Given the description of an element on the screen output the (x, y) to click on. 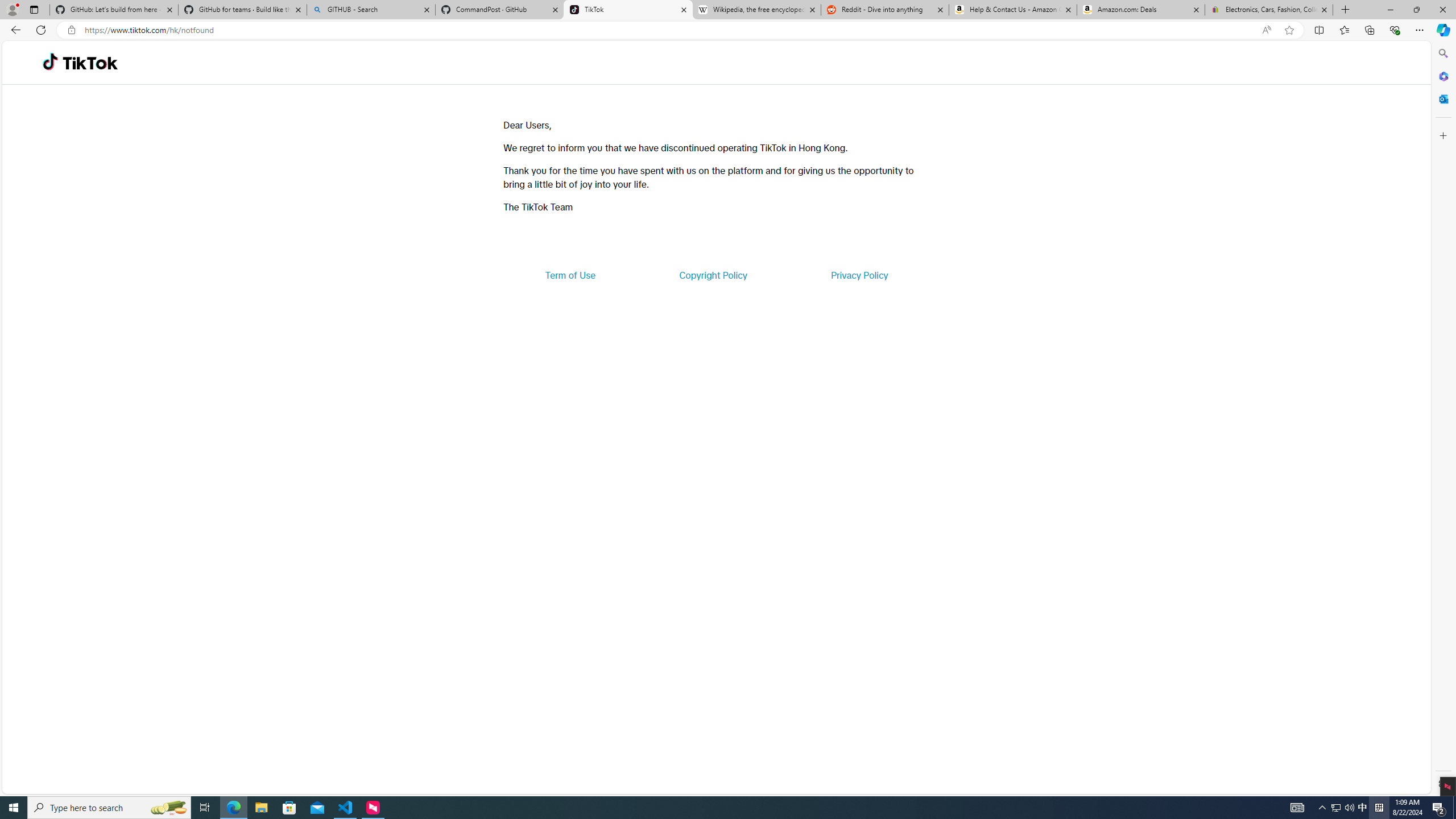
Side bar (1443, 418)
Amazon.com: Deals (1140, 9)
GITHUB - Search (370, 9)
Electronics, Cars, Fashion, Collectibles & More | eBay (1268, 9)
Copyright Policy (712, 274)
Term of Use (569, 274)
